Given the description of an element on the screen output the (x, y) to click on. 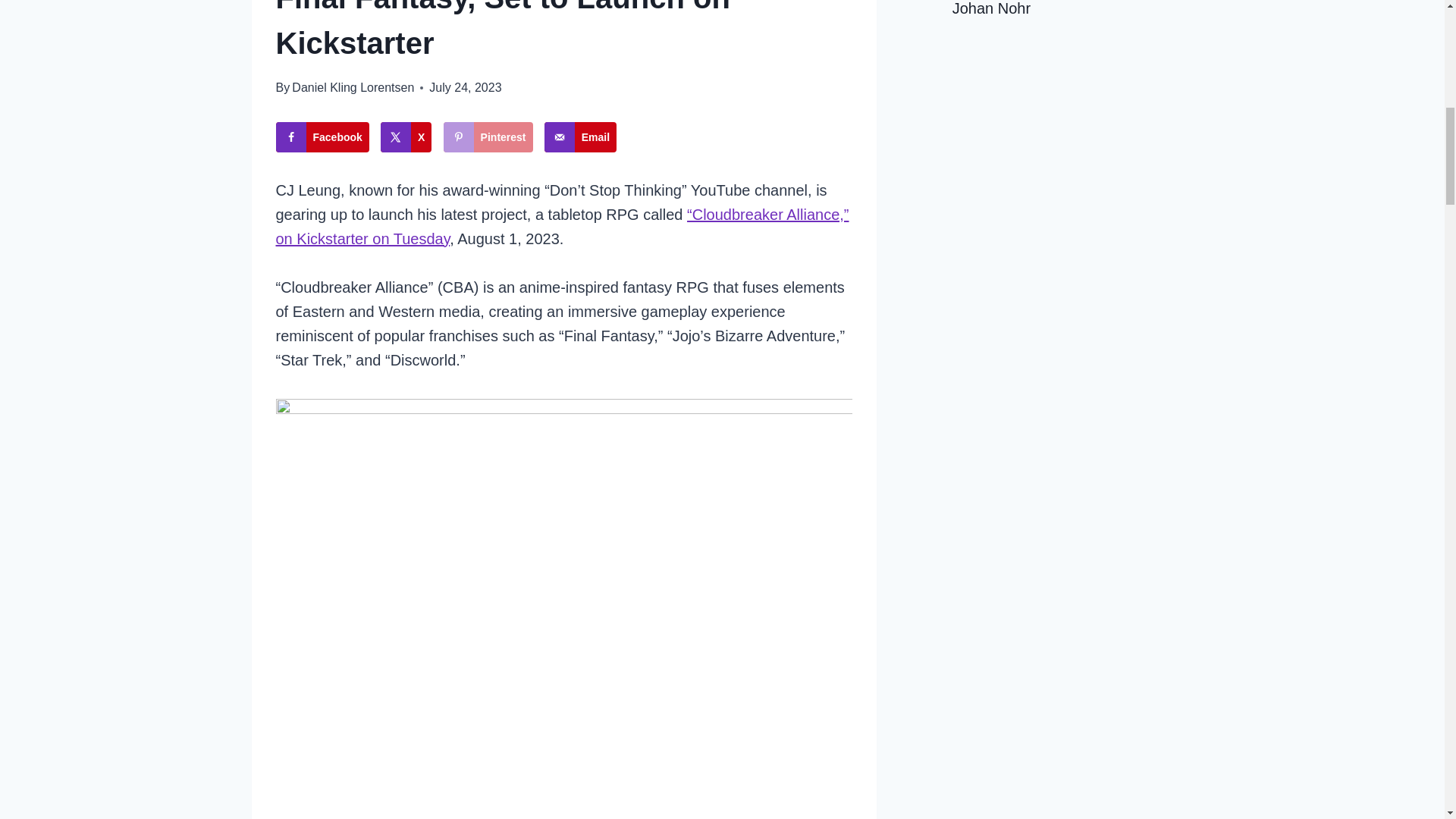
Send over email (579, 137)
Share on X (405, 137)
Pinterest (488, 137)
Daniel Kling Lorentsen (352, 87)
Save to Pinterest (488, 137)
Share on Facebook (322, 137)
X (405, 137)
Email (579, 137)
Facebook (322, 137)
